Given the description of an element on the screen output the (x, y) to click on. 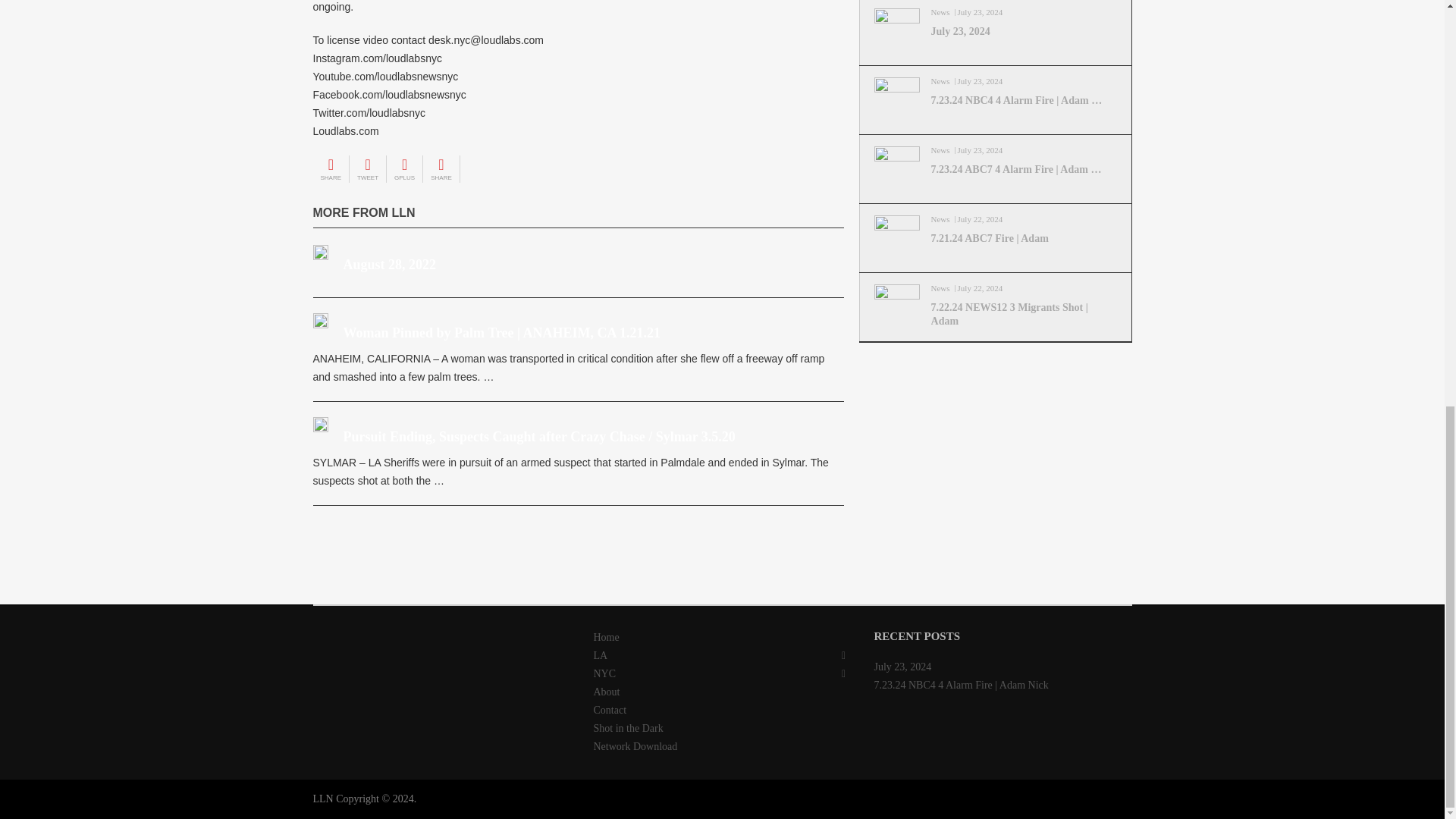
August 28, 2022 (320, 252)
August 28, 2022 (388, 264)
